Given the description of an element on the screen output the (x, y) to click on. 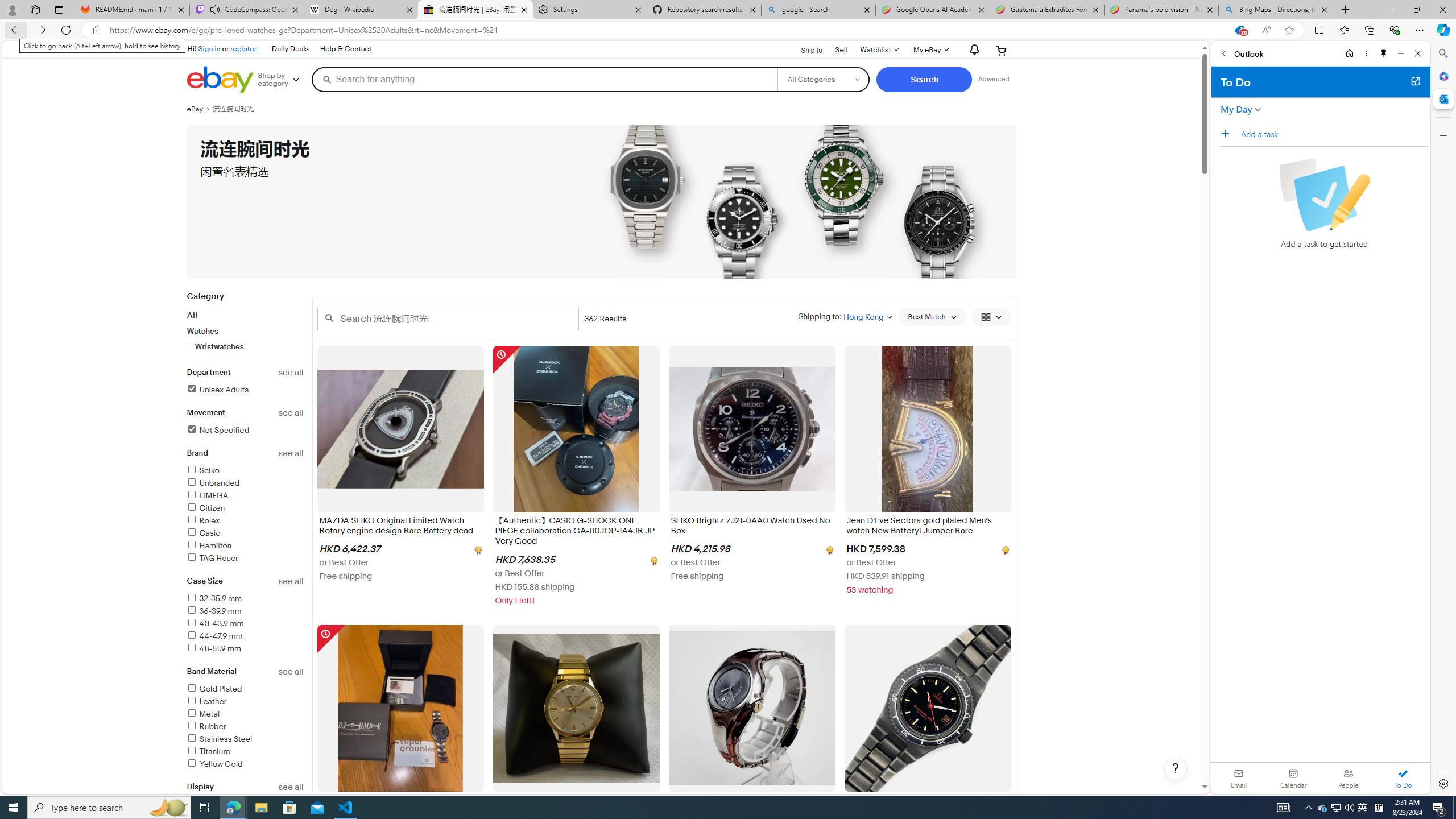
44-47.9 mm (245, 636)
Email (1238, 777)
Citizen (245, 508)
See all brand refinements (291, 452)
My eBayExpand My eBay (930, 49)
To Do (1402, 777)
Sign in (209, 48)
Stainless Steel (218, 738)
People (1347, 777)
